Given the description of an element on the screen output the (x, y) to click on. 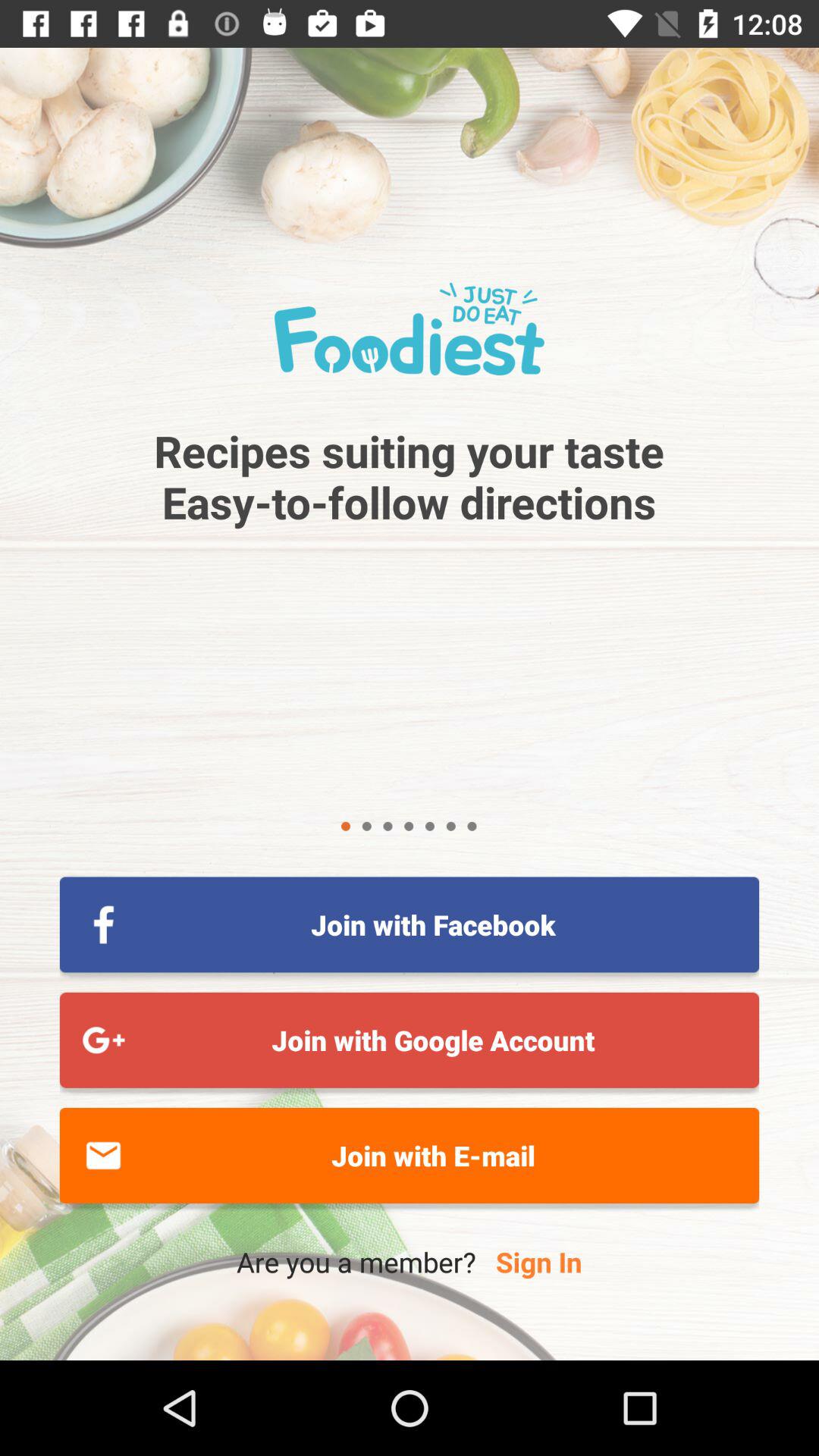
press item below the join with e (538, 1261)
